Given the description of an element on the screen output the (x, y) to click on. 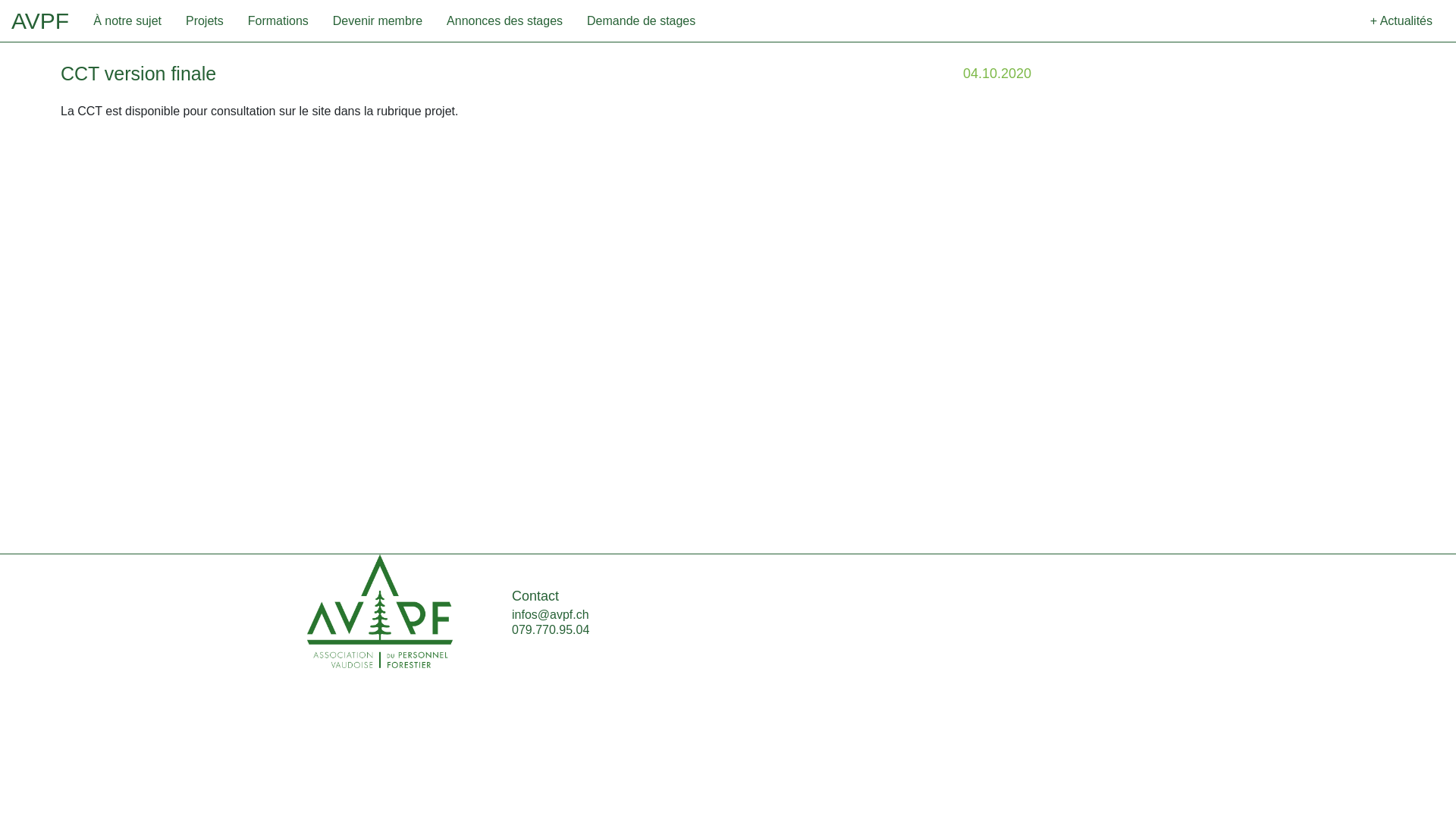
Formations Element type: text (277, 20)
Valider Element type: text (1131, 249)
AVPF Element type: text (40, 20)
infos@avpf.ch Element type: text (550, 614)
Annonces des stages Element type: text (504, 20)
Devenir membre Element type: text (377, 20)
Demande de stages Element type: text (640, 20)
Projets Element type: text (204, 20)
079.770.95.04 Element type: text (550, 629)
